Given the description of an element on the screen output the (x, y) to click on. 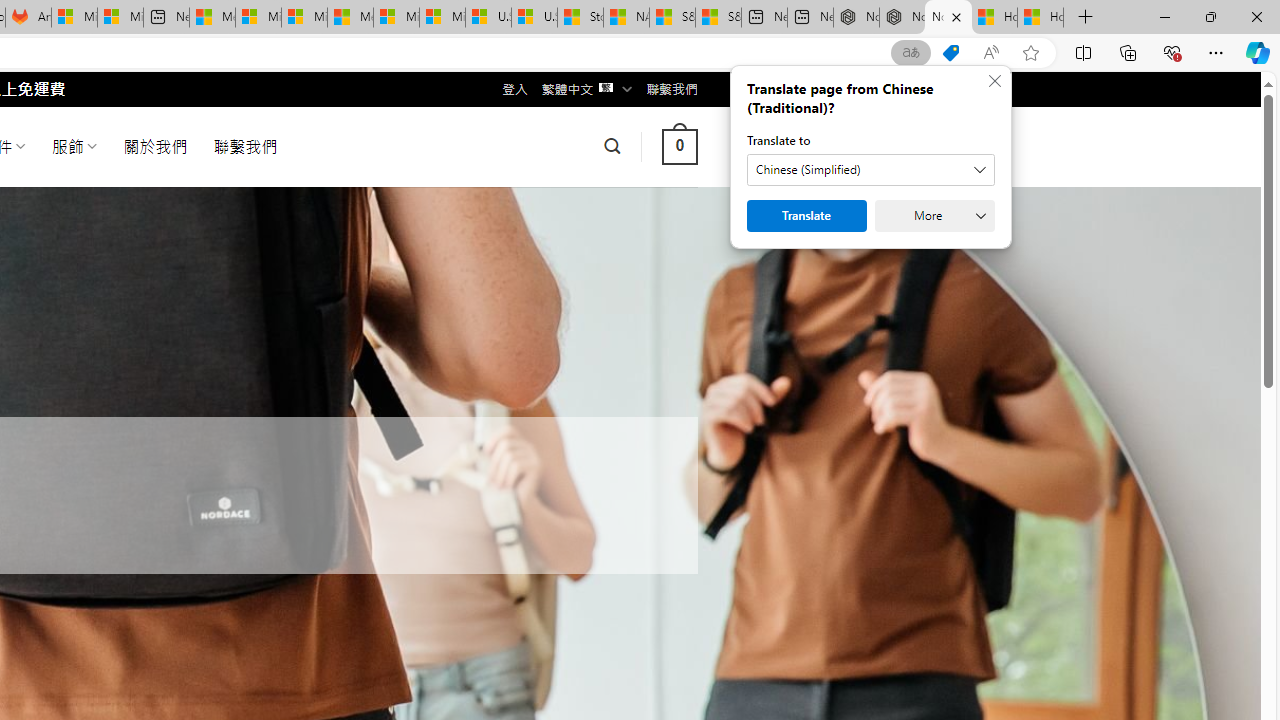
Microsoft account | Privacy (258, 17)
Show translate options (910, 53)
This site has coupons! Shopping in Microsoft Edge (950, 53)
 0  (679, 146)
Translate (806, 215)
